Given the description of an element on the screen output the (x, y) to click on. 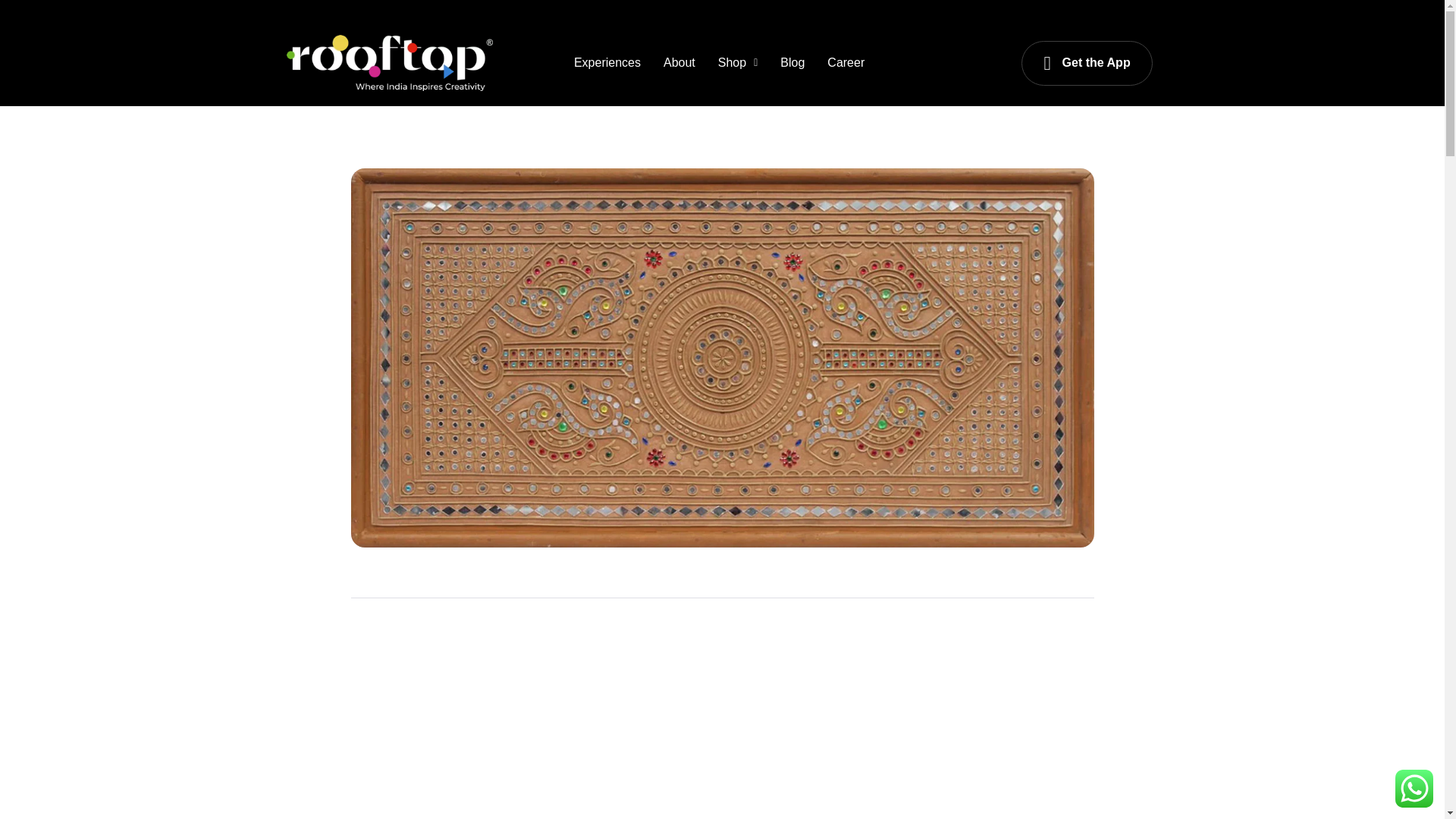
Water (962, 579)
About (679, 62)
Lippan art (814, 579)
Rooftop (493, 579)
Blog (791, 62)
Earth (765, 579)
Shop (738, 62)
Experiences (607, 62)
Air (737, 579)
March 28, 2024 (584, 579)
